Given the description of an element on the screen output the (x, y) to click on. 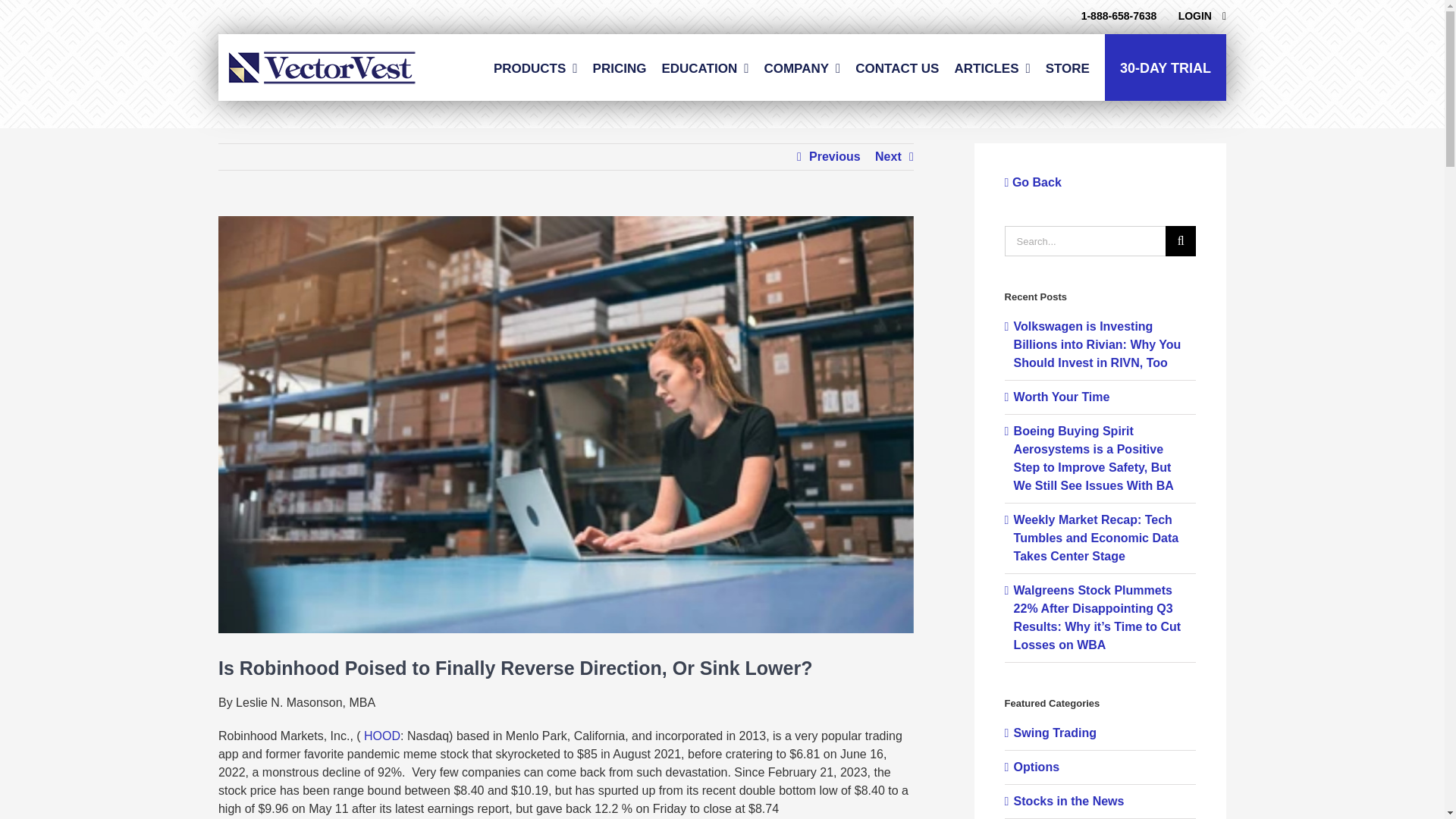
CONTACT US (897, 67)
ARTICLES (991, 67)
COMPANY (801, 67)
EDUCATION (704, 67)
LOGIN (1201, 15)
PRODUCTS (535, 67)
1-888-658-7638 (1119, 15)
